Given the description of an element on the screen output the (x, y) to click on. 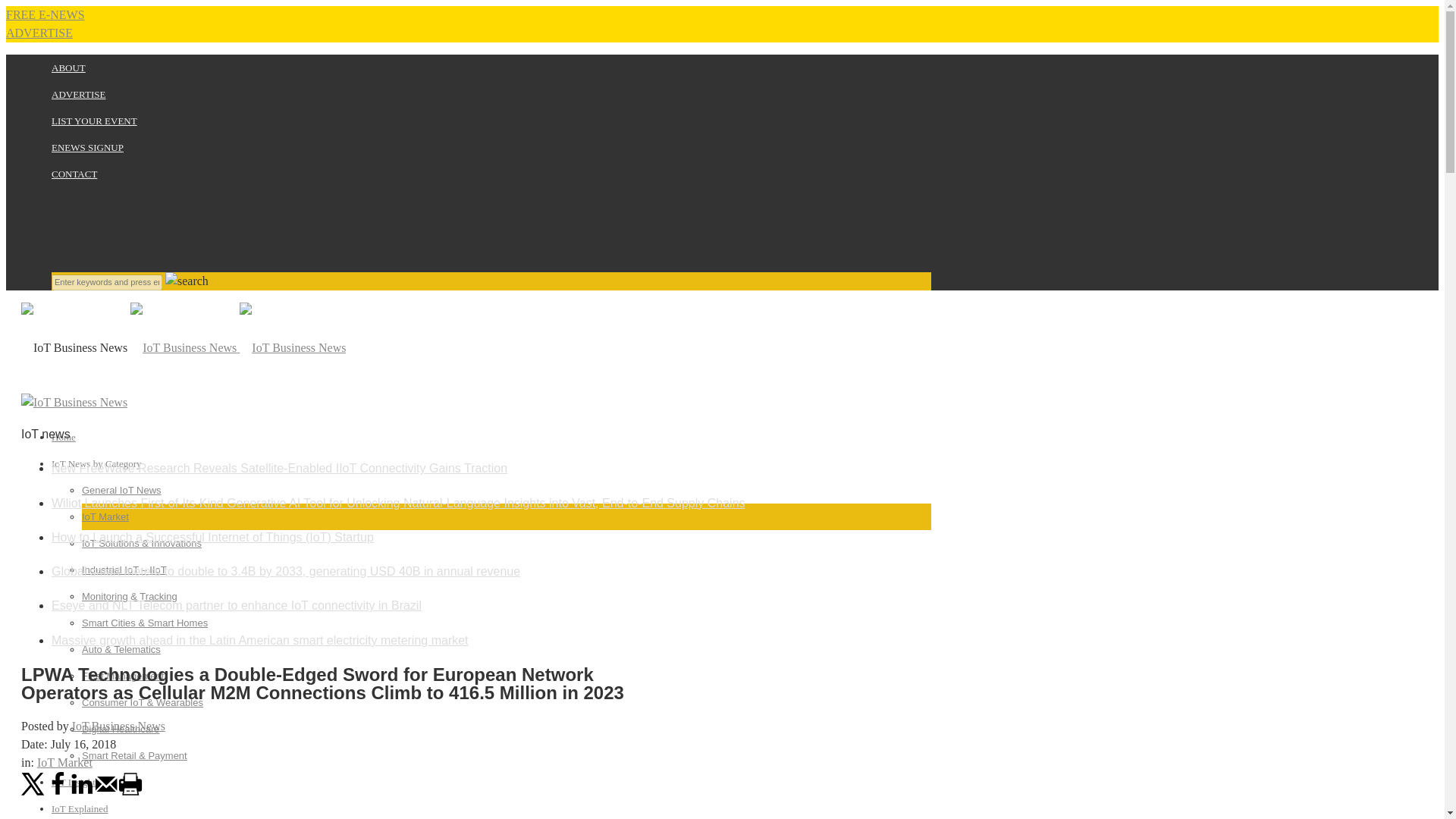
IoT Insights (74, 781)
Fleet Management (122, 675)
Digital Healthcare (120, 728)
IoT Market (105, 516)
Share on Facebook (57, 792)
ENEWS SIGNUP (86, 147)
Share on X (33, 792)
ADVERTISE (77, 93)
CONTACT (73, 173)
IoT Business News (238, 347)
